Given the description of an element on the screen output the (x, y) to click on. 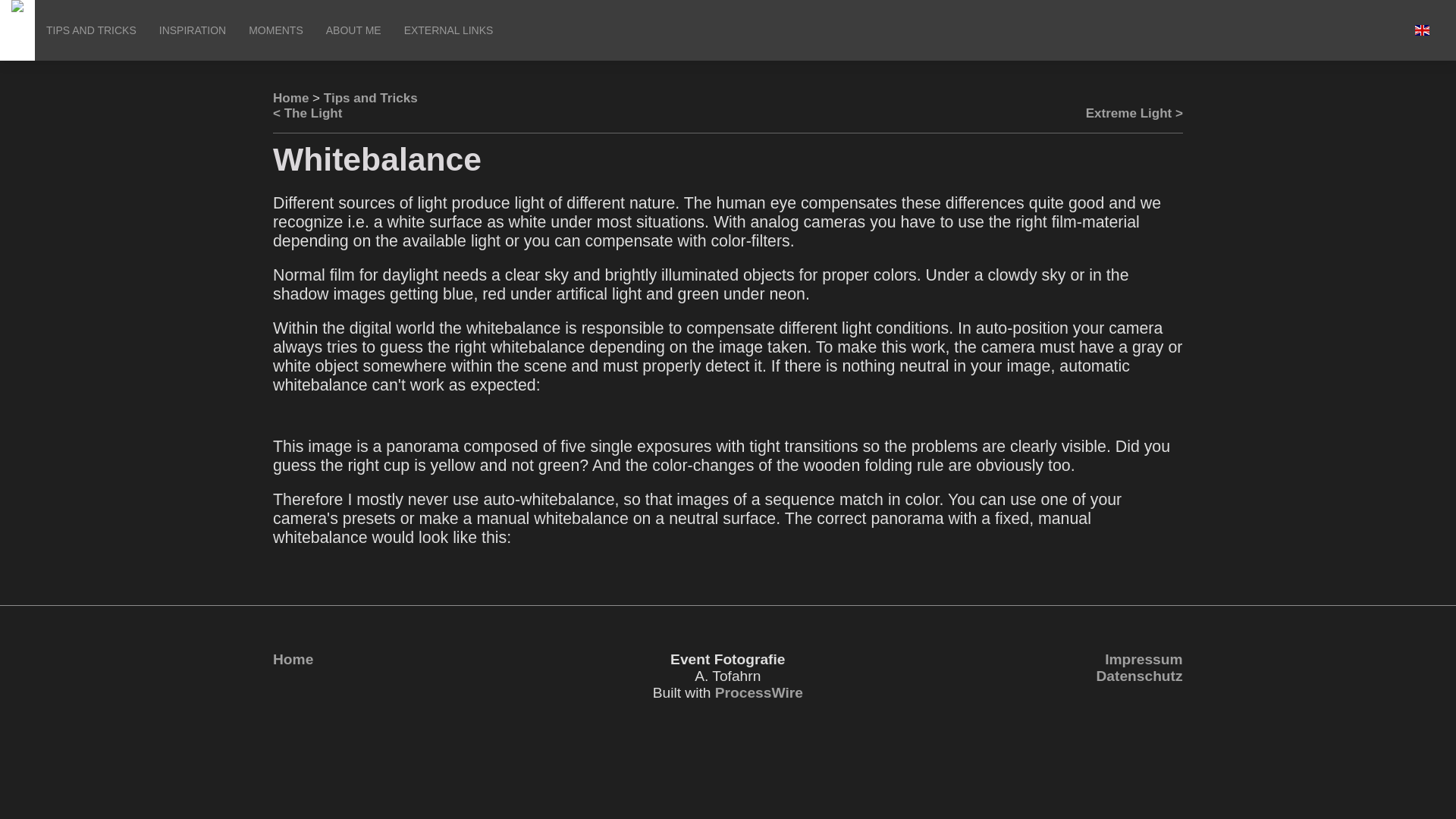
EN (1422, 30)
MOMENTS (275, 30)
TIPS AND TRICKS (91, 30)
INSPIRATION (192, 30)
